Given the description of an element on the screen output the (x, y) to click on. 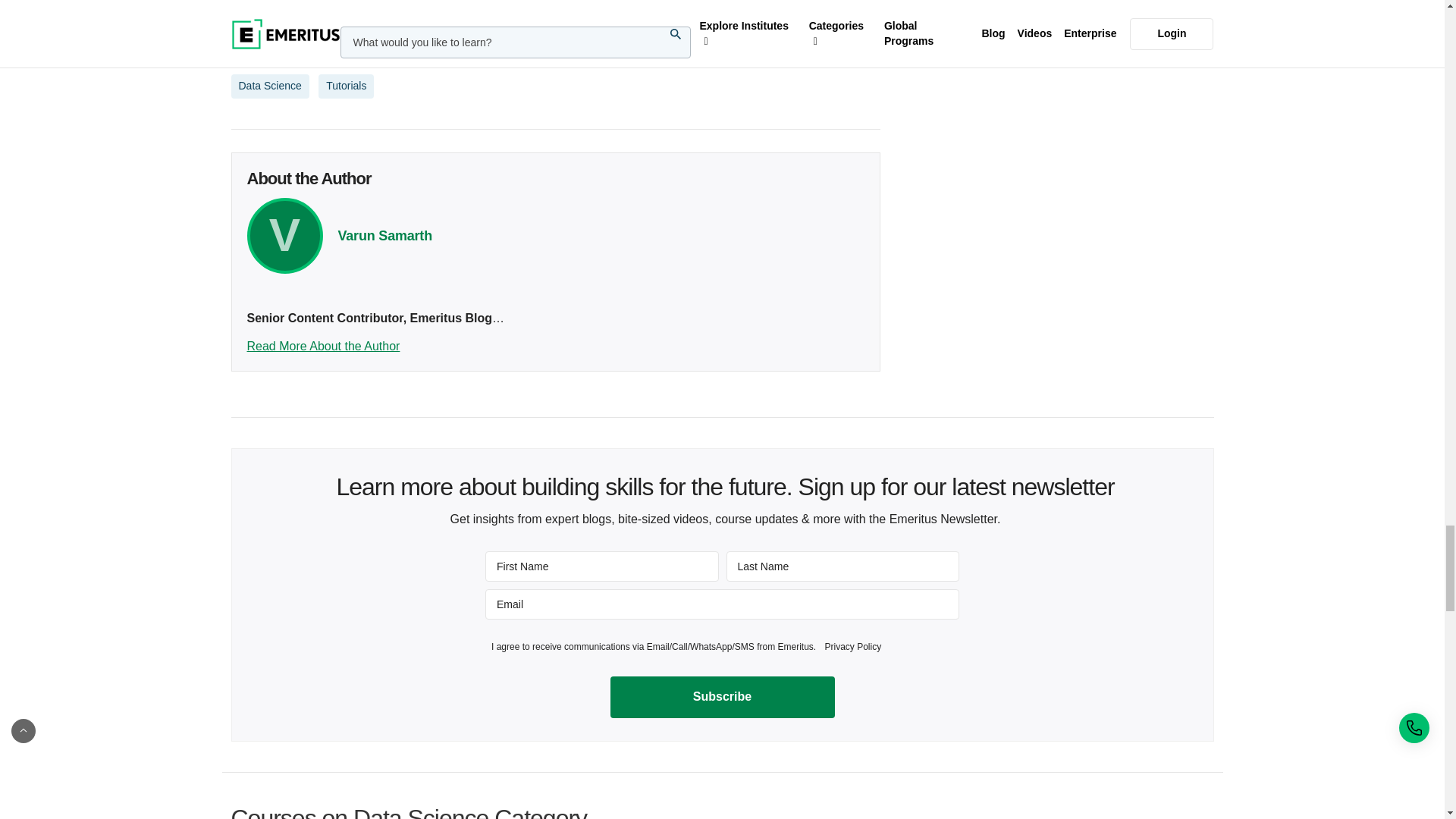
Subscribe (722, 696)
